Given the description of an element on the screen output the (x, y) to click on. 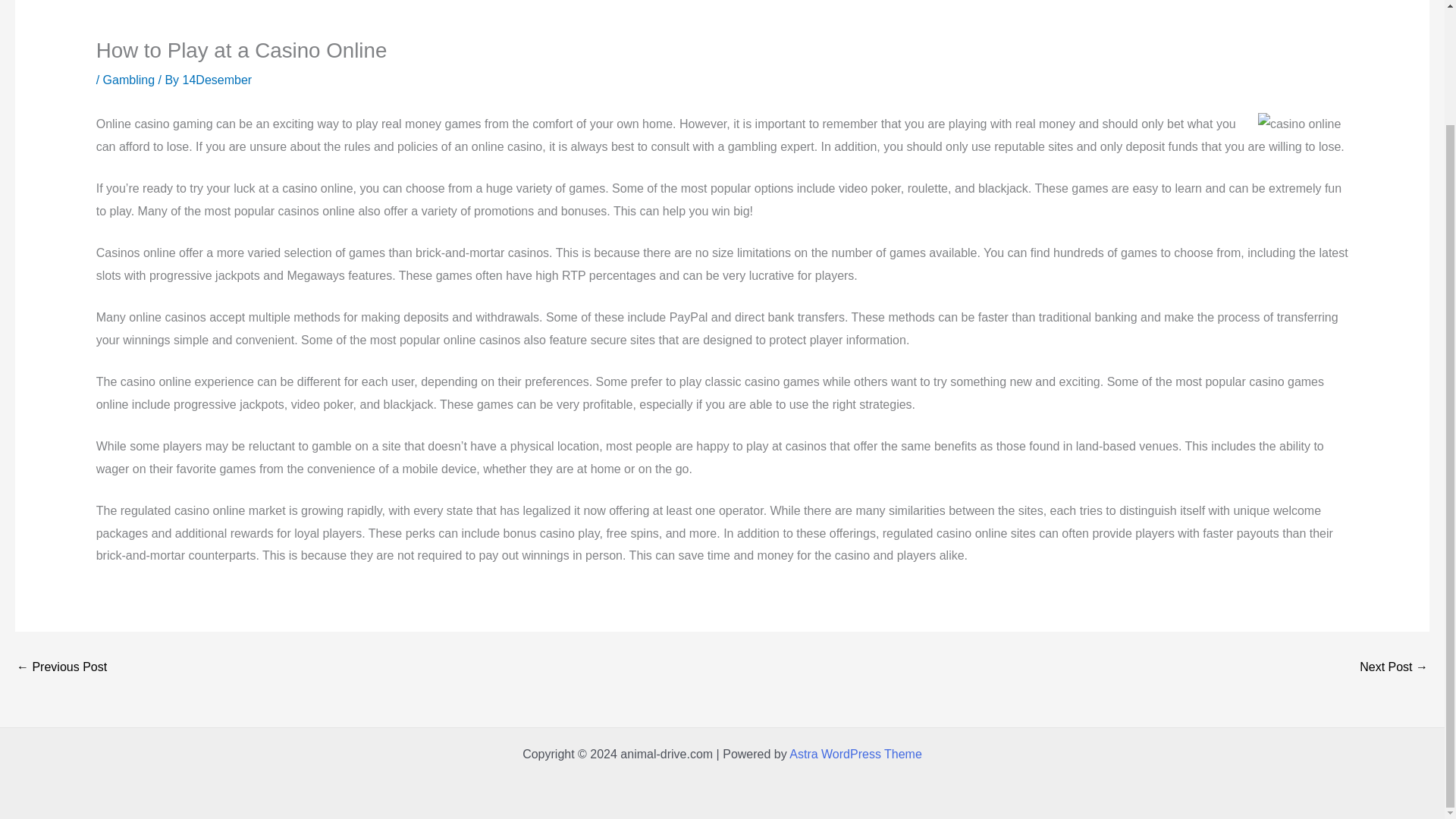
Astra WordPress Theme (855, 753)
How to Find a Good Sportsbook (1393, 666)
Gambling (128, 79)
View all posts by 14Desember (217, 79)
How to Beat the Odds of Winning the Lottery (61, 666)
14Desember (217, 79)
